Given the description of an element on the screen output the (x, y) to click on. 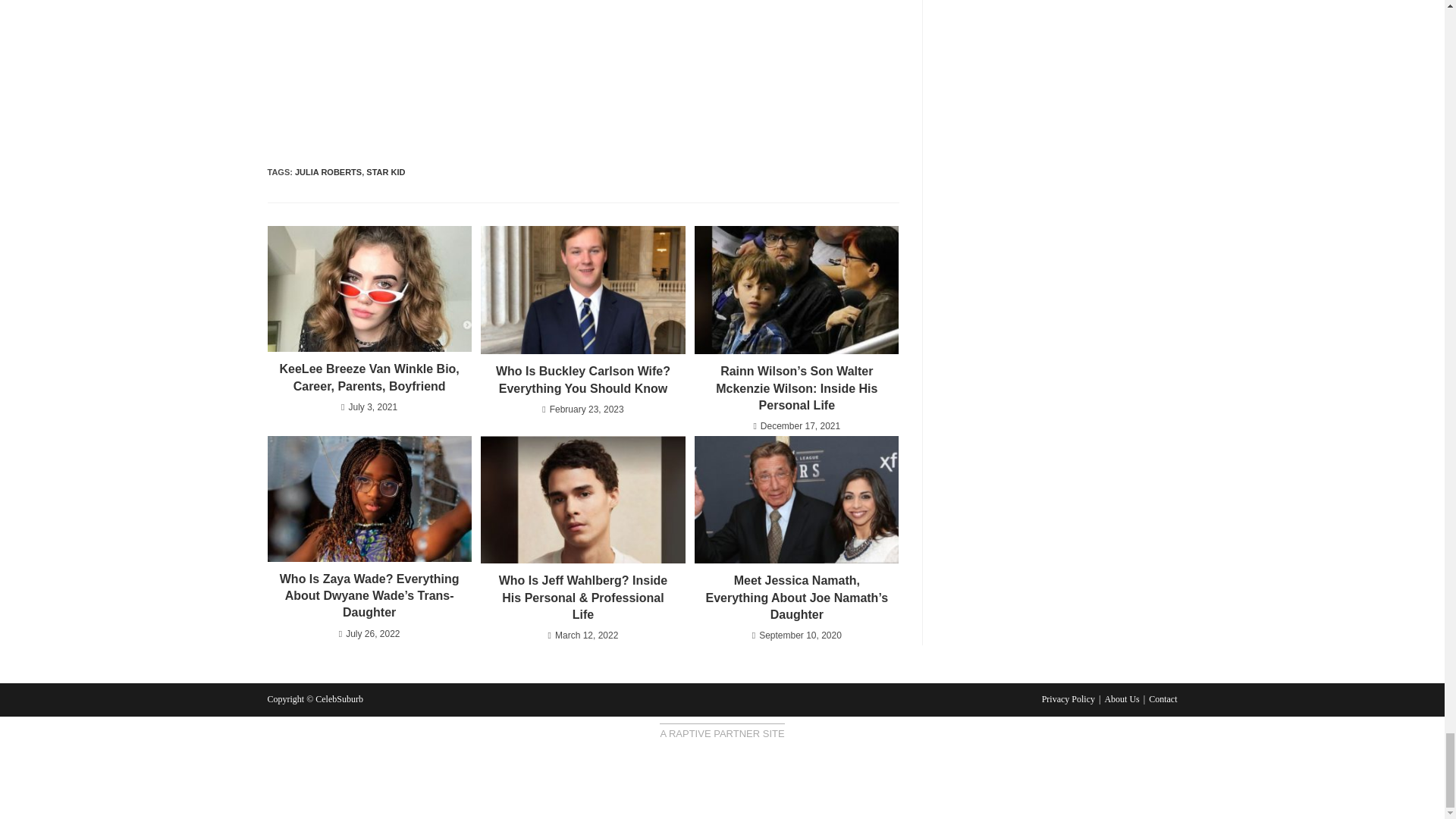
KeeLee Breeze Van Winkle Bio, Career, Parents, Boyfriend (368, 377)
STAR KID (385, 171)
JULIA ROBERTS (328, 171)
Who Is Buckley Carlson Wife? Everything You Should Know (582, 380)
